Given the description of an element on the screen output the (x, y) to click on. 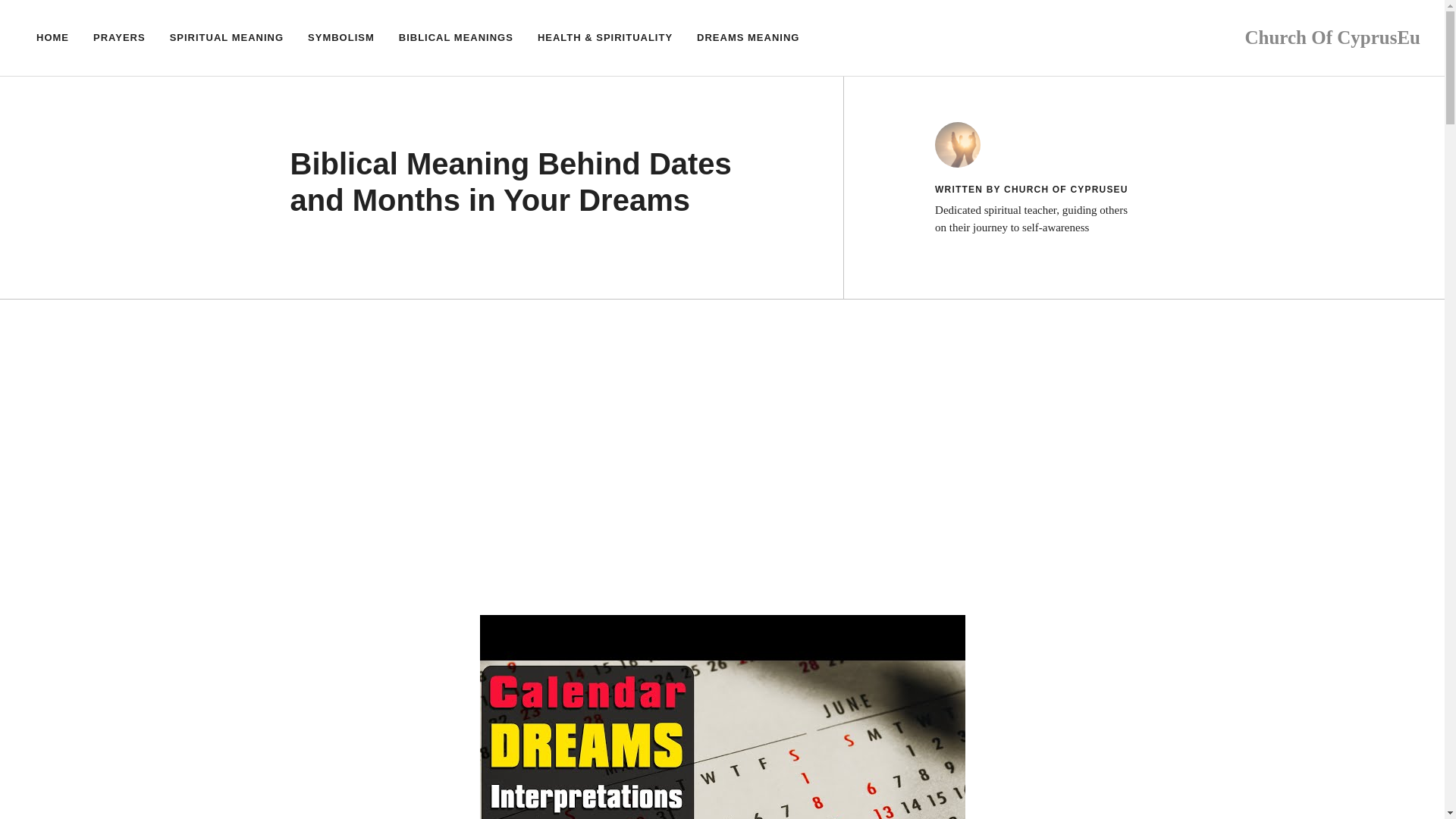
DREAMS MEANING (747, 37)
Church Of CyprusEu (1332, 37)
SYMBOLISM (341, 37)
HOME (52, 37)
BIBLICAL MEANINGS (456, 37)
PRAYERS (119, 37)
SPIRITUAL MEANING (226, 37)
